Given the description of an element on the screen output the (x, y) to click on. 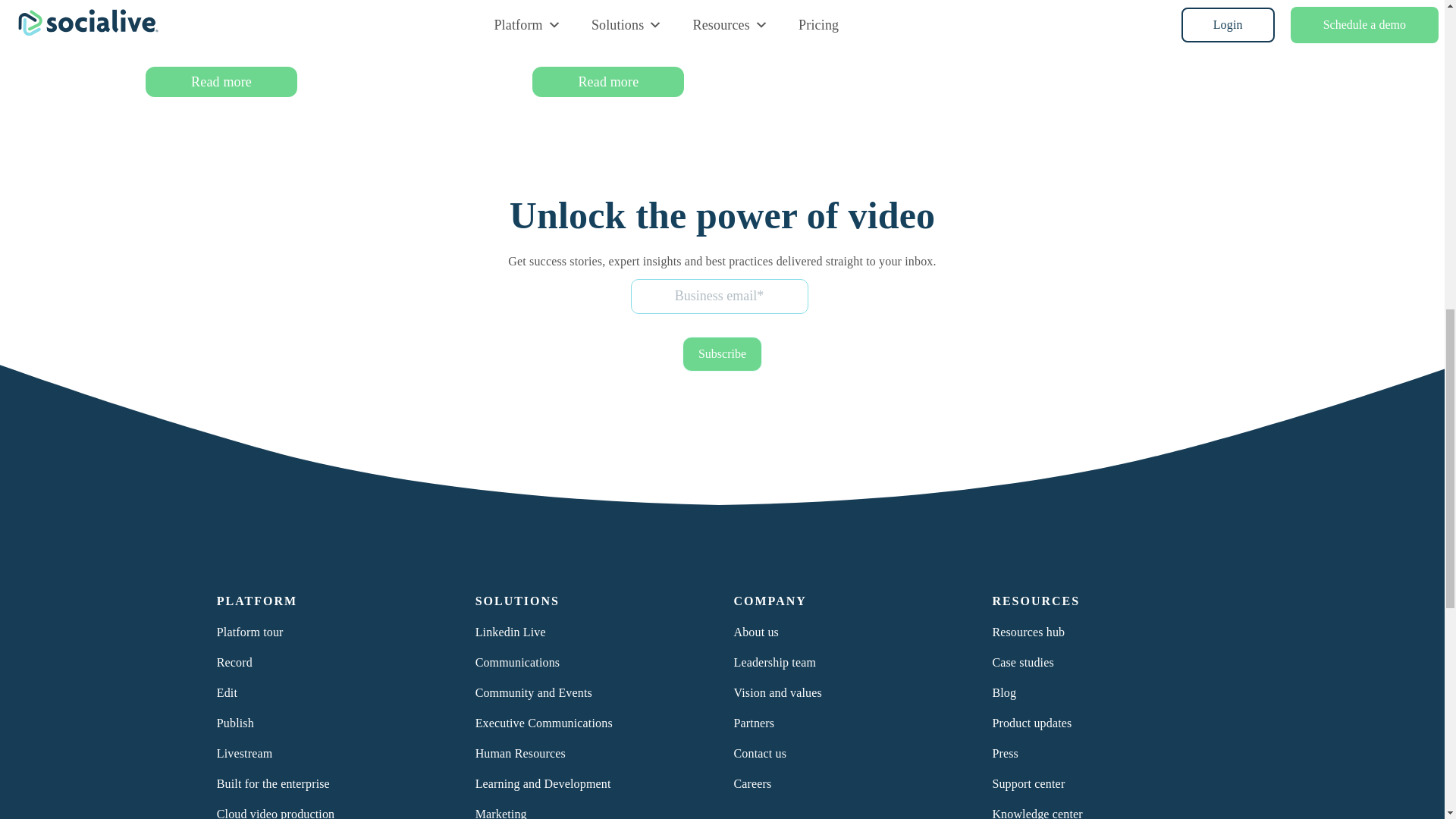
A-to-Z video creation: record, edit, and publish (320, 30)
Subscribe (721, 353)
